Given the description of an element on the screen output the (x, y) to click on. 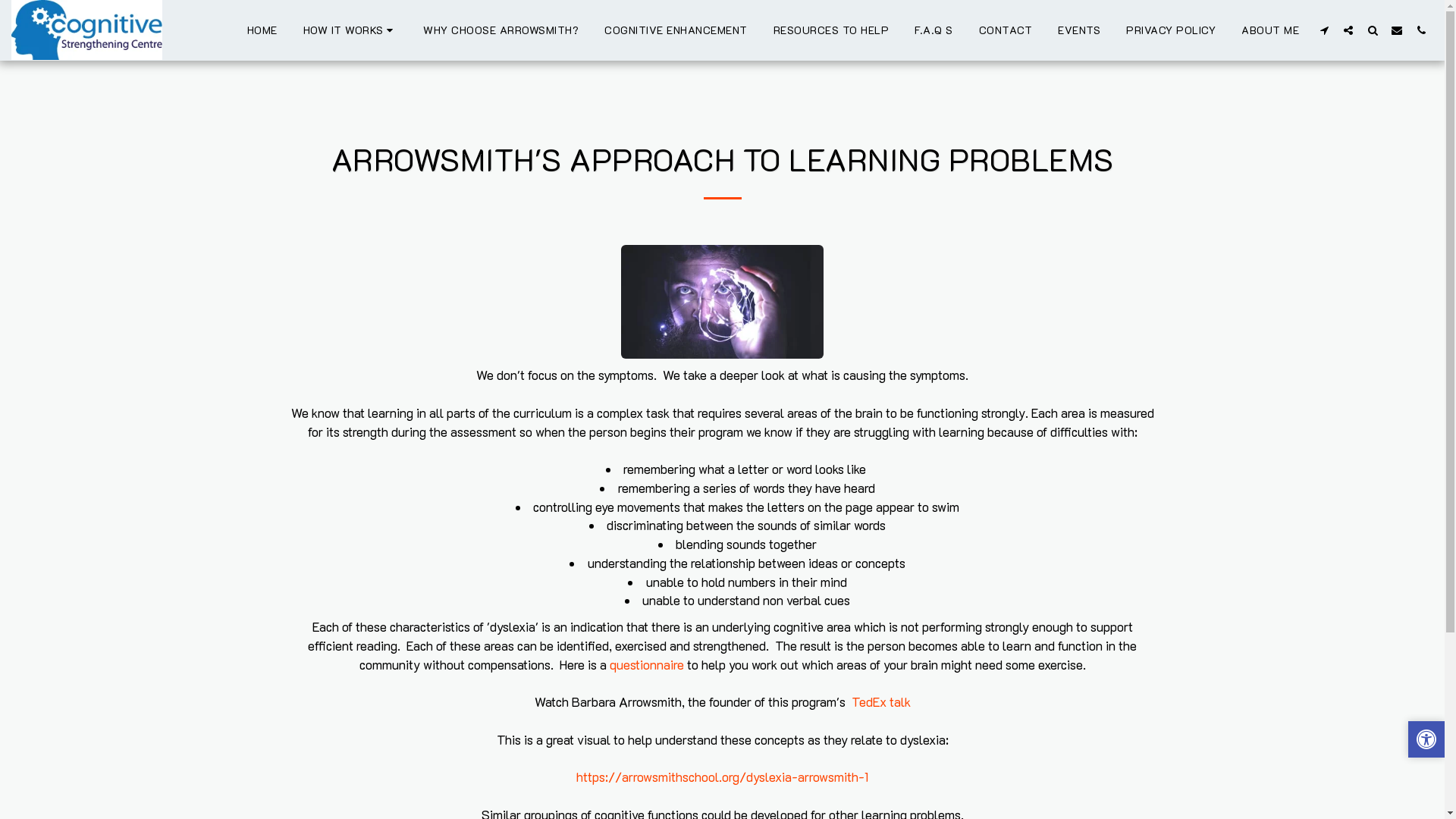
https://arrowsmithschool.org/dyslexia-arrowsmith-1 Element type: text (722, 776)
  Element type: text (1323, 29)
  Element type: text (1347, 29)
HOW IT WORKS   Element type: text (350, 29)
HOME Element type: text (262, 29)
questionnaire Element type: text (646, 664)
  Element type: text (1372, 29)
TedEx talk Element type: text (880, 701)
CONTACT Element type: text (1005, 29)
  Element type: text (1396, 29)
WHY CHOOSE ARROWSMITH? Element type: text (500, 29)
COGNITIVE ENHANCEMENT Element type: text (675, 29)
  Element type: text (1420, 29)
RESOURCES TO HELP Element type: text (831, 29)
EVENTS Element type: text (1078, 29)
PRIVACY POLICY Element type: text (1170, 29)
ABOUT ME Element type: text (1270, 29)
F.A.Q S Element type: text (933, 29)
